Given the description of an element on the screen output the (x, y) to click on. 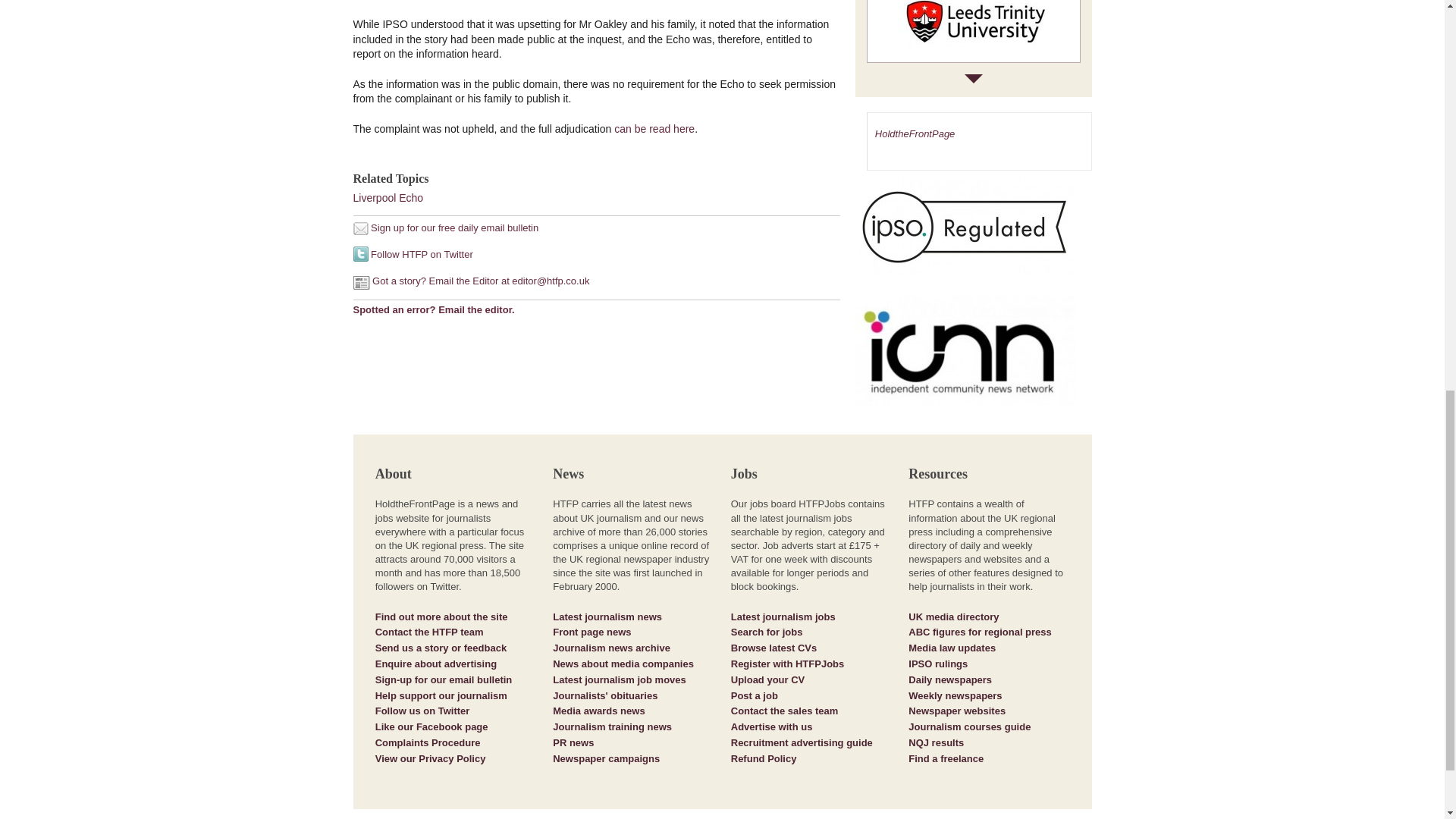
Donations page (440, 695)
Like our Facebook page (431, 726)
Find out more about the site (441, 616)
Independent Community News Network (974, 357)
Independent Press Standards Organisation (965, 226)
Independent Community News Network (965, 350)
Independent Press Standards Organisation (974, 233)
Follow us on Twitter (422, 710)
Send us a story or feedback (440, 647)
Contact the HTFP team (429, 632)
Enquire about advertising with us (435, 663)
Sign-up for our email bulletin (443, 679)
